Given the description of an element on the screen output the (x, y) to click on. 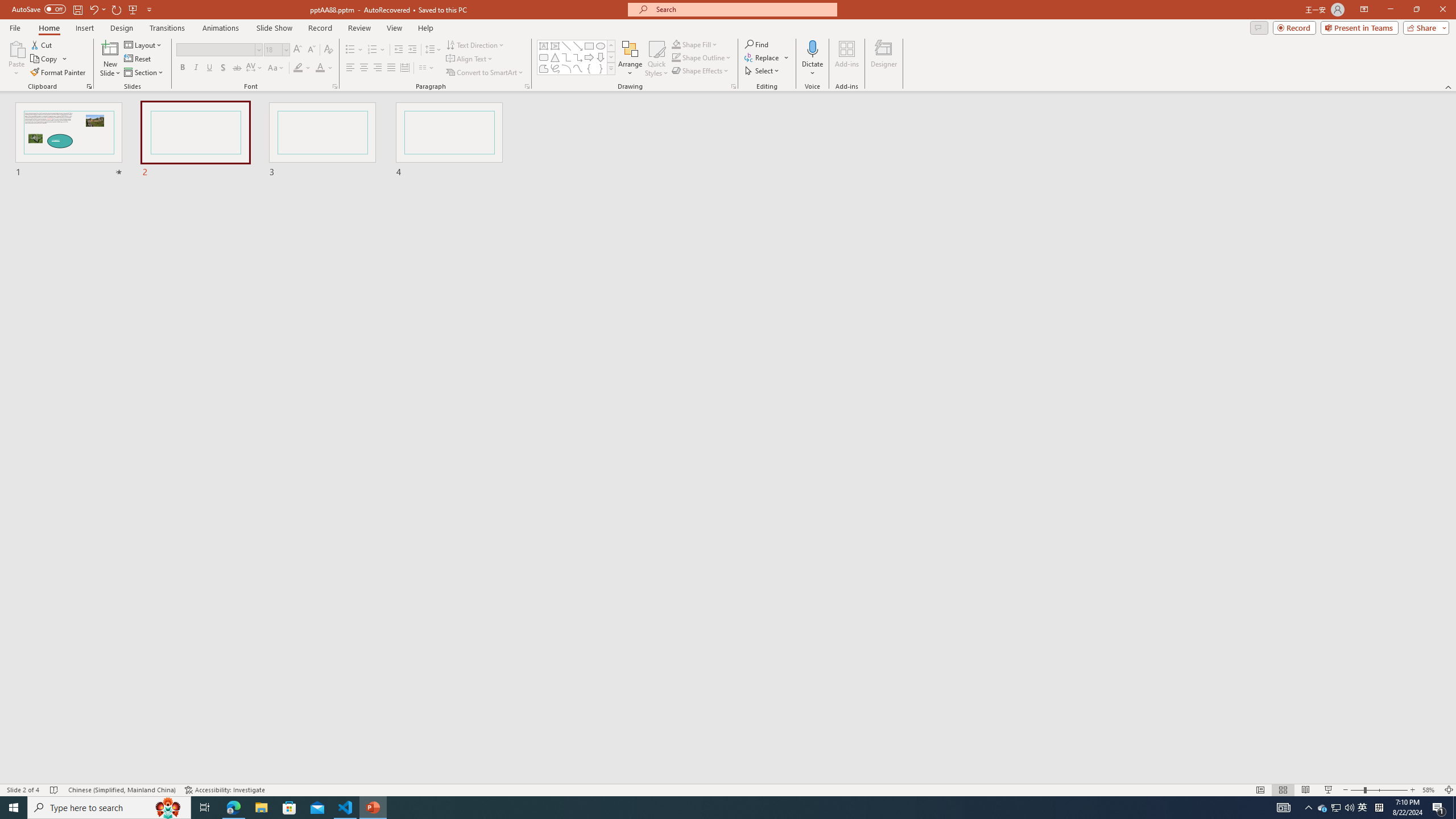
Shape Fill Aqua, Accent 2 (675, 44)
